Given the description of an element on the screen output the (x, y) to click on. 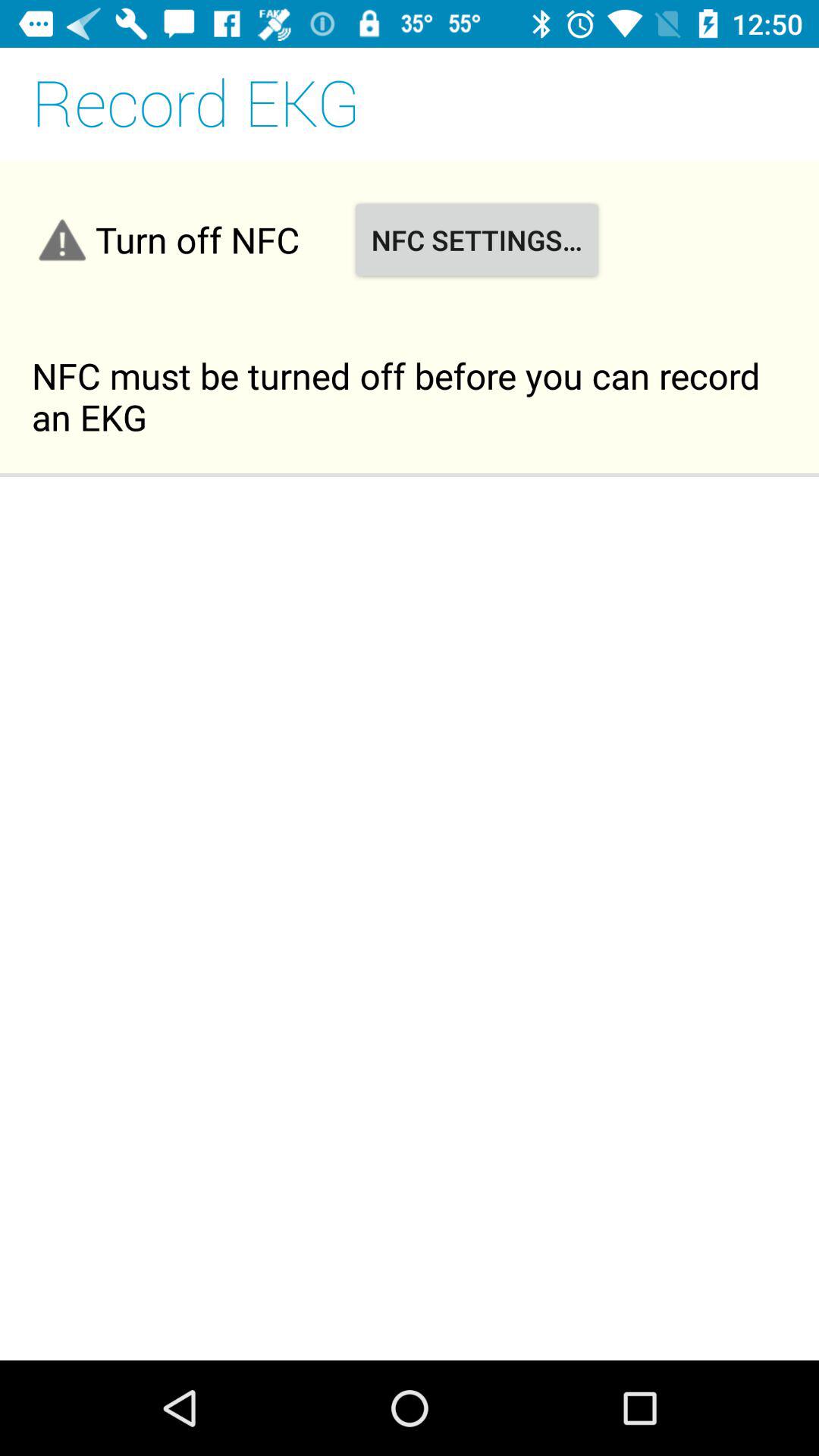
click the item next to turn off nfc item (476, 239)
